Given the description of an element on the screen output the (x, y) to click on. 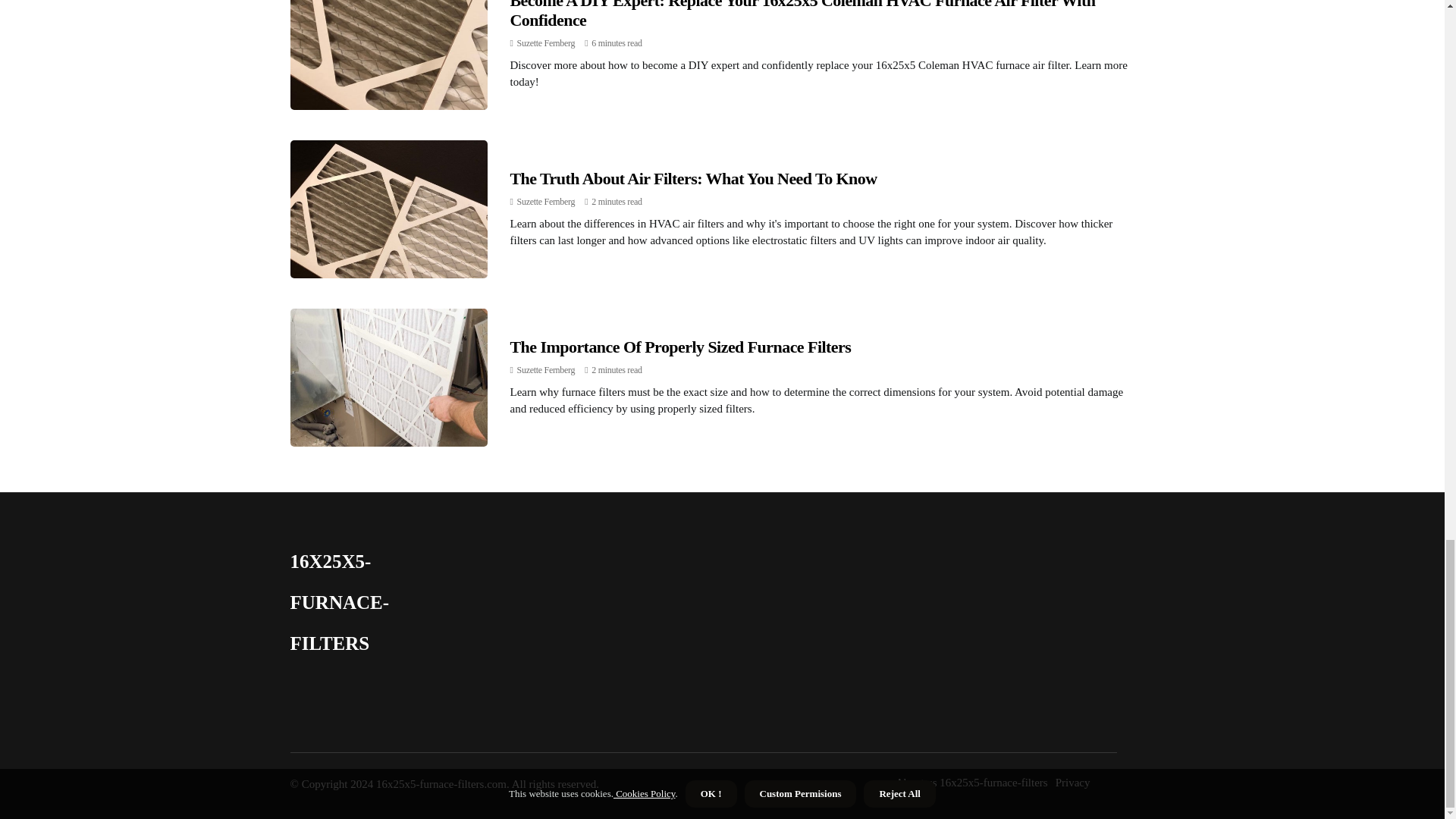
Posts by Suzette Fernberg (545, 42)
Suzette Fernberg (545, 42)
The Importance Of Properly Sized Furnace Filters (679, 346)
Posts by Suzette Fernberg (545, 369)
Suzette Fernberg (545, 369)
Posts by Suzette Fernberg (545, 201)
The Truth About Air Filters: What You Need To Know (692, 178)
Suzette Fernberg (545, 201)
